Given the description of an element on the screen output the (x, y) to click on. 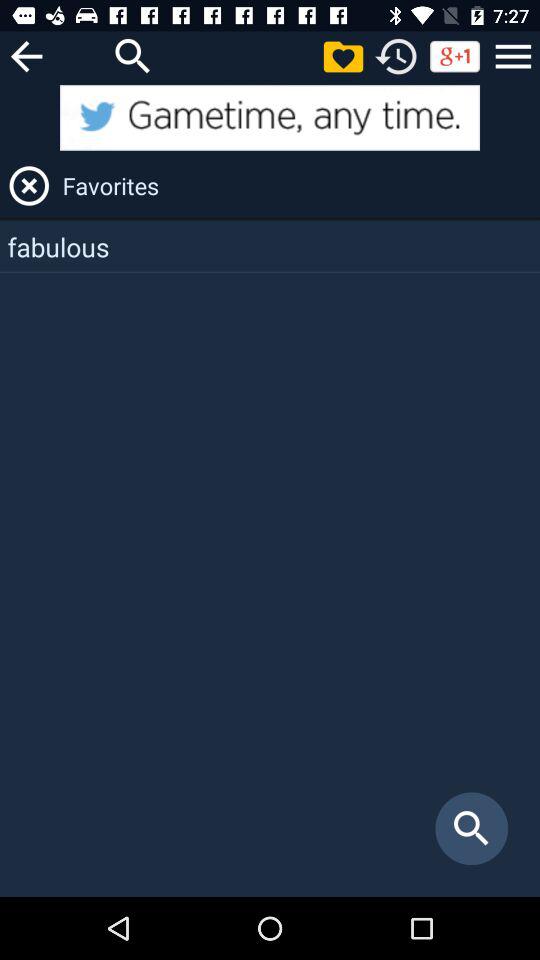
select the item to the left of favorites icon (29, 185)
